Given the description of an element on the screen output the (x, y) to click on. 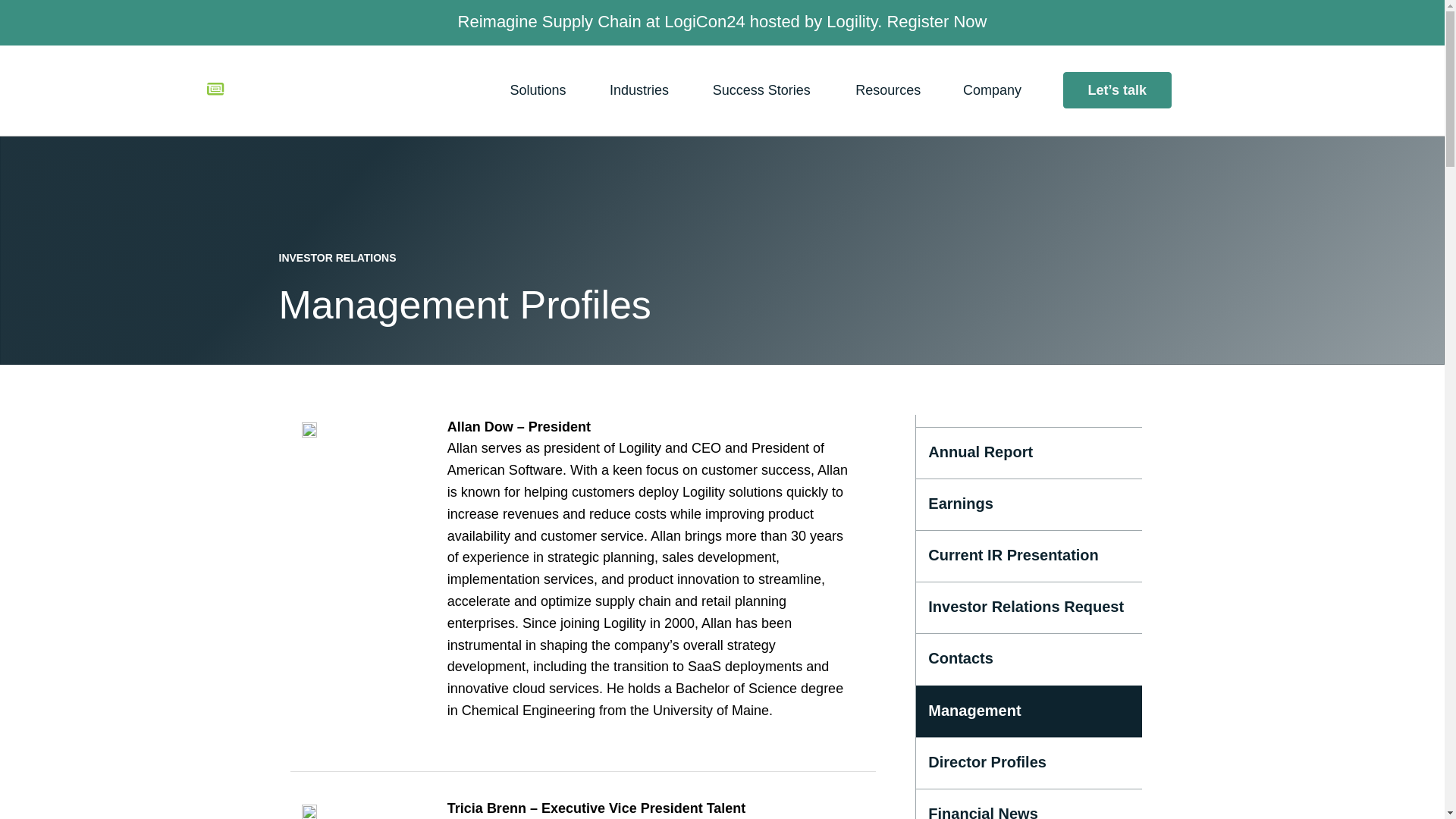
Logility brand (236, 90)
Solutions (540, 91)
Register Now (936, 21)
Logility brand (266, 88)
Solutions (540, 91)
